Given the description of an element on the screen output the (x, y) to click on. 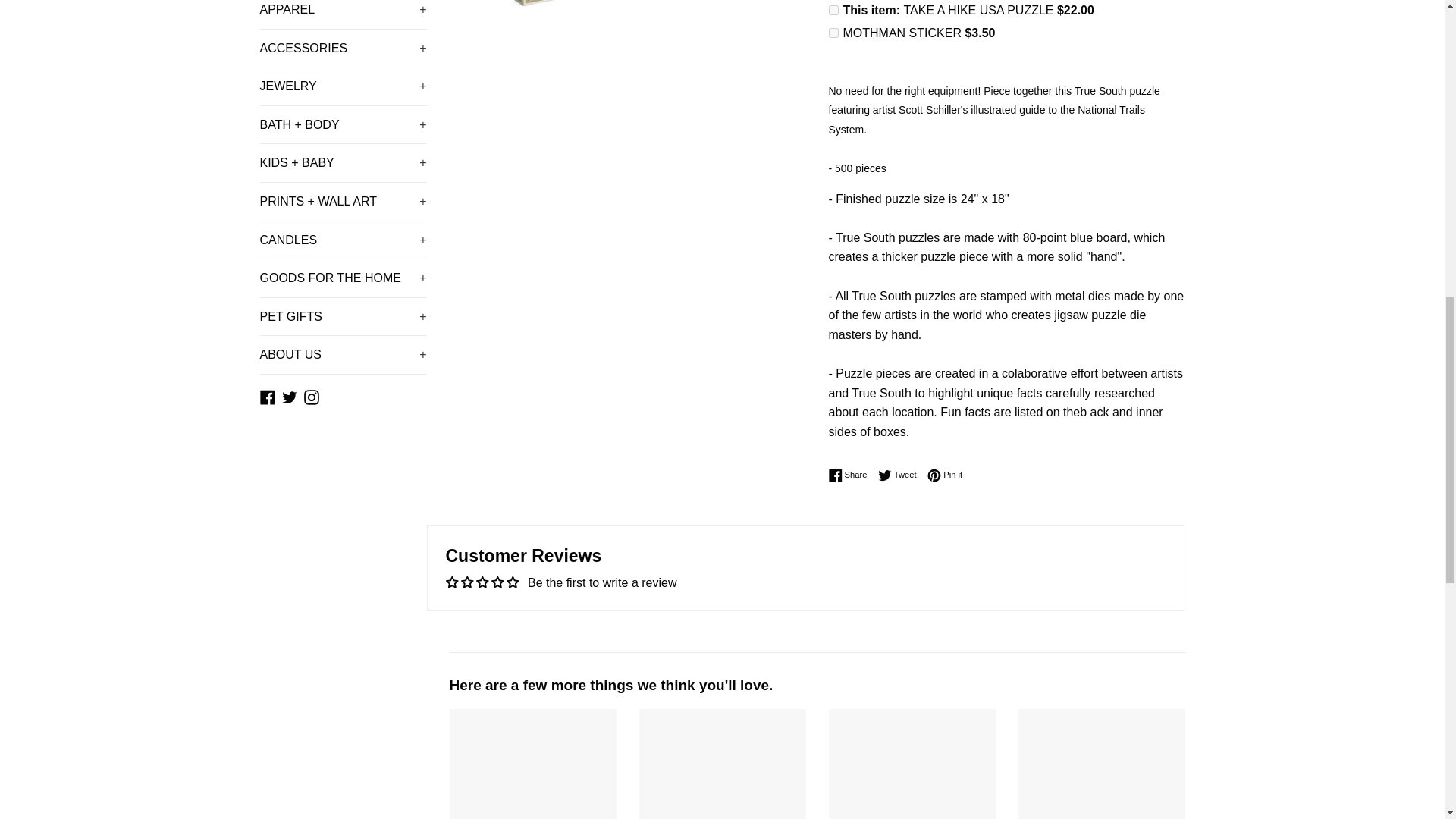
NATIONAL PARKS OF AMERICA PUZZLE (1101, 764)
on (833, 32)
on (833, 9)
Pin on Pinterest (944, 475)
Share on Facebook (851, 475)
Tweet on Twitter (900, 475)
MUSIC FESTIVALS ACROSS AMERICA PUZZLE (911, 764)
CLASSIC HORROR MOVIES MAP PUZZLE (722, 764)
